Given the description of an element on the screen output the (x, y) to click on. 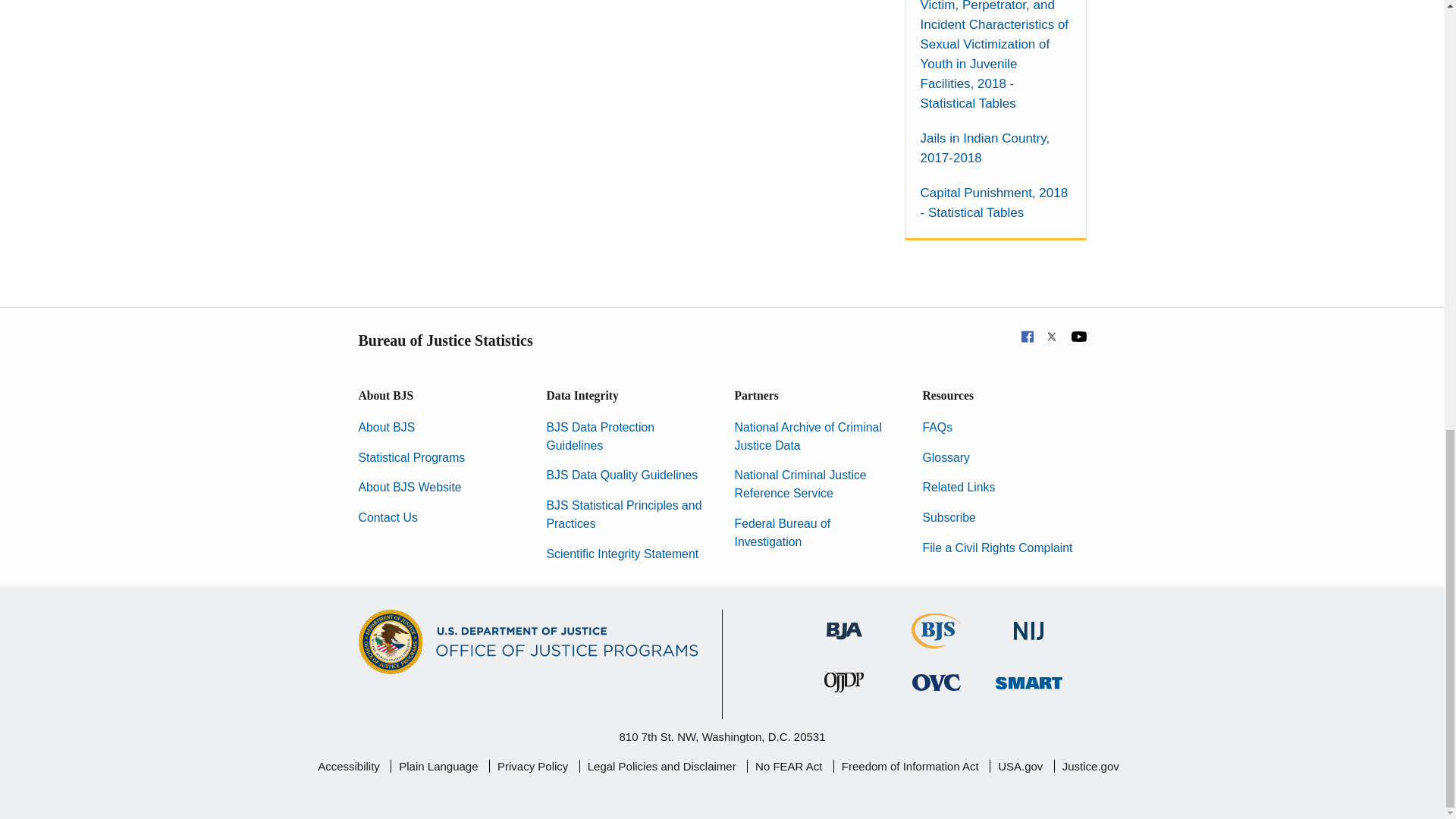
Capital Punishment, 2018 - Statistical Tables (995, 202)
Jails in Indian Country, 2017-2018 (995, 148)
